Given the description of an element on the screen output the (x, y) to click on. 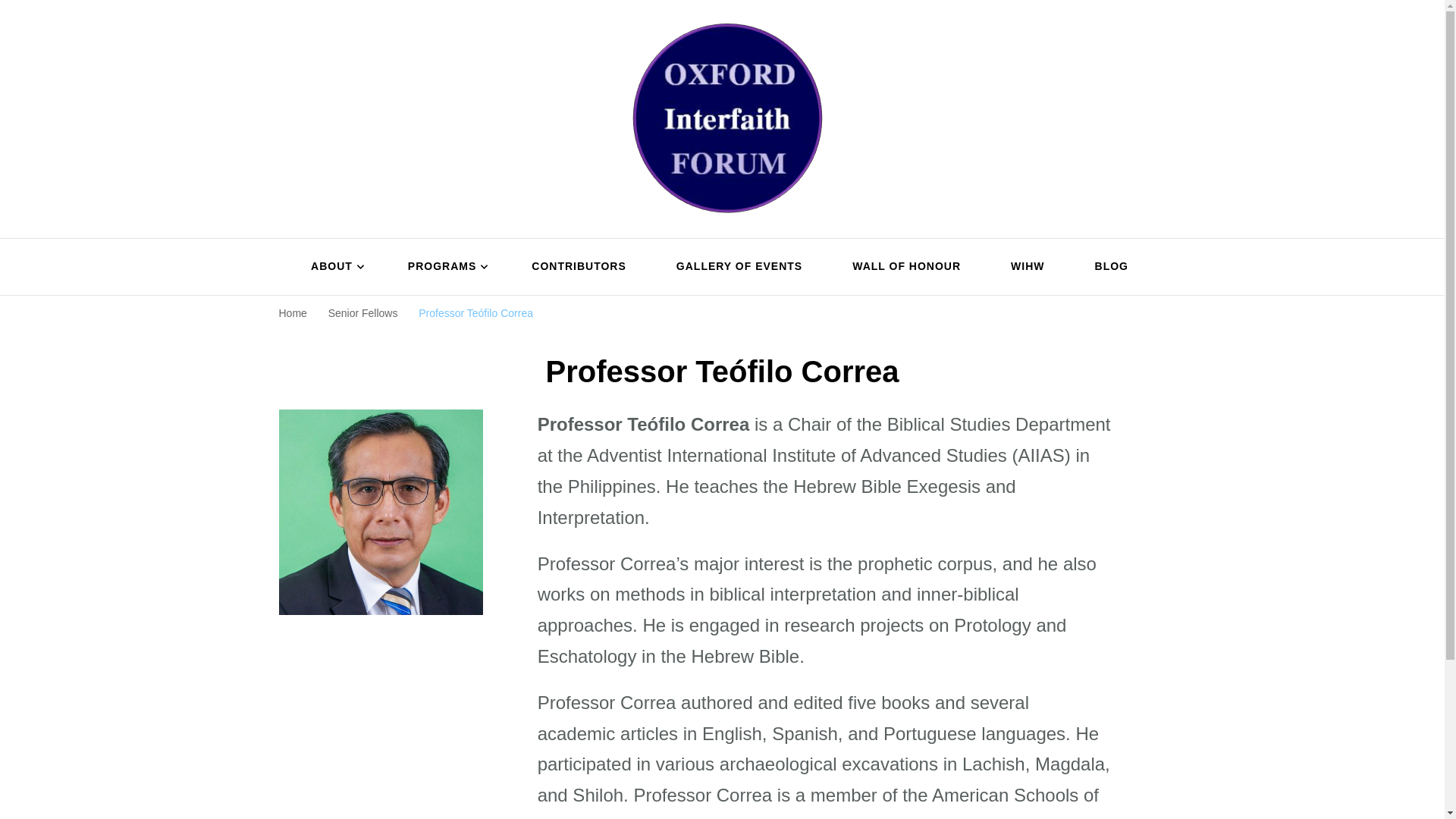
CONTRIBUTORS (579, 266)
BLOG (1104, 266)
WIHW (1027, 266)
WALL OF HONOUR (906, 266)
PROGRAMS (444, 266)
Home (293, 313)
Senior Fellows (363, 313)
ABOUT (334, 266)
GALLERY OF EVENTS (738, 266)
